Given the description of an element on the screen output the (x, y) to click on. 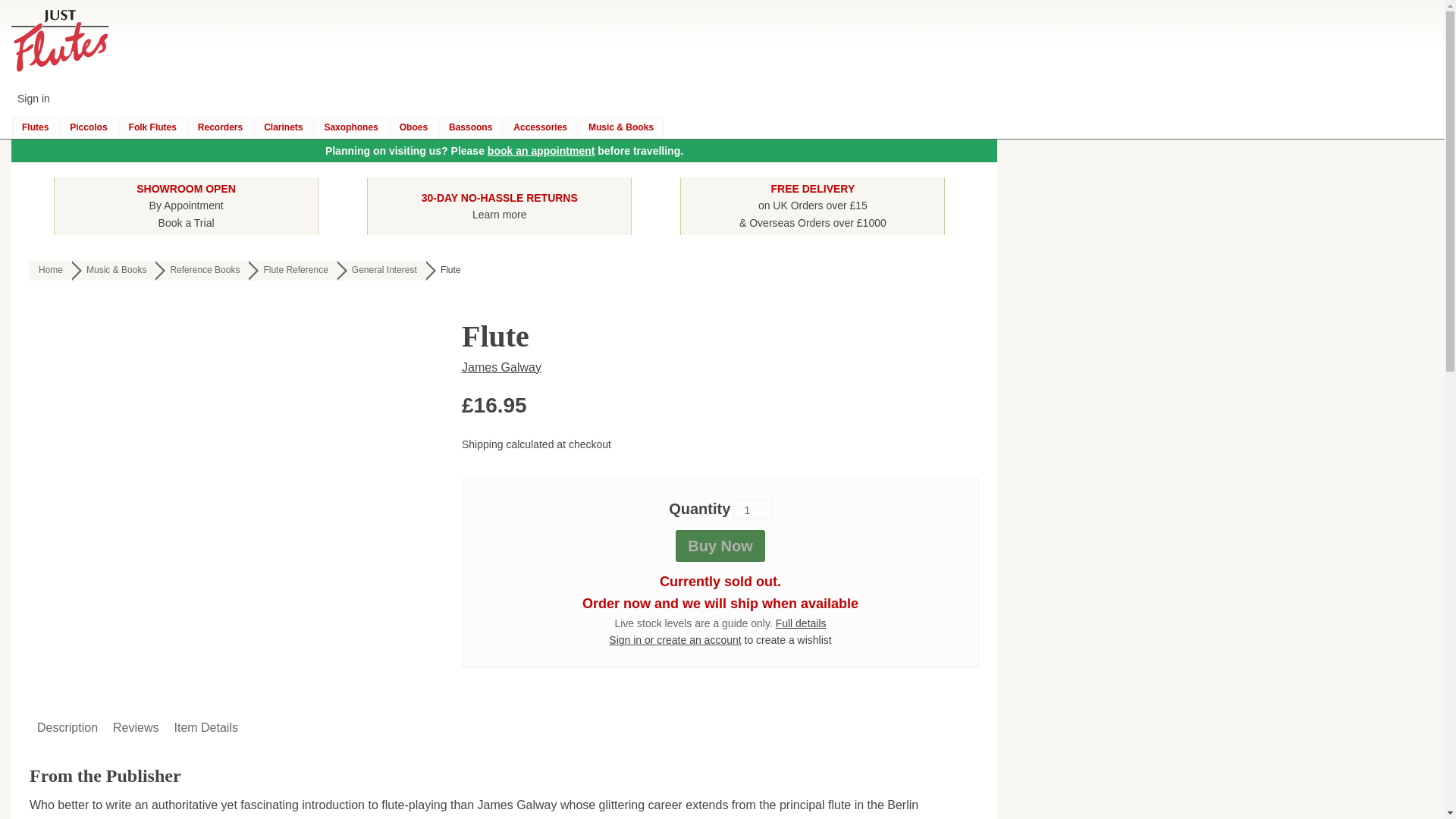
James Galway (501, 367)
Sign in or create an account (186, 205)
Folk Flutes (674, 639)
Bassoons (152, 127)
Clarinets (470, 127)
Oboes (283, 127)
Flute Reference (414, 127)
Reference Books (292, 270)
Home (201, 270)
Reference Books (50, 270)
Description (201, 270)
book an appointment (66, 728)
Item Details (541, 150)
